Given the description of an element on the screen output the (x, y) to click on. 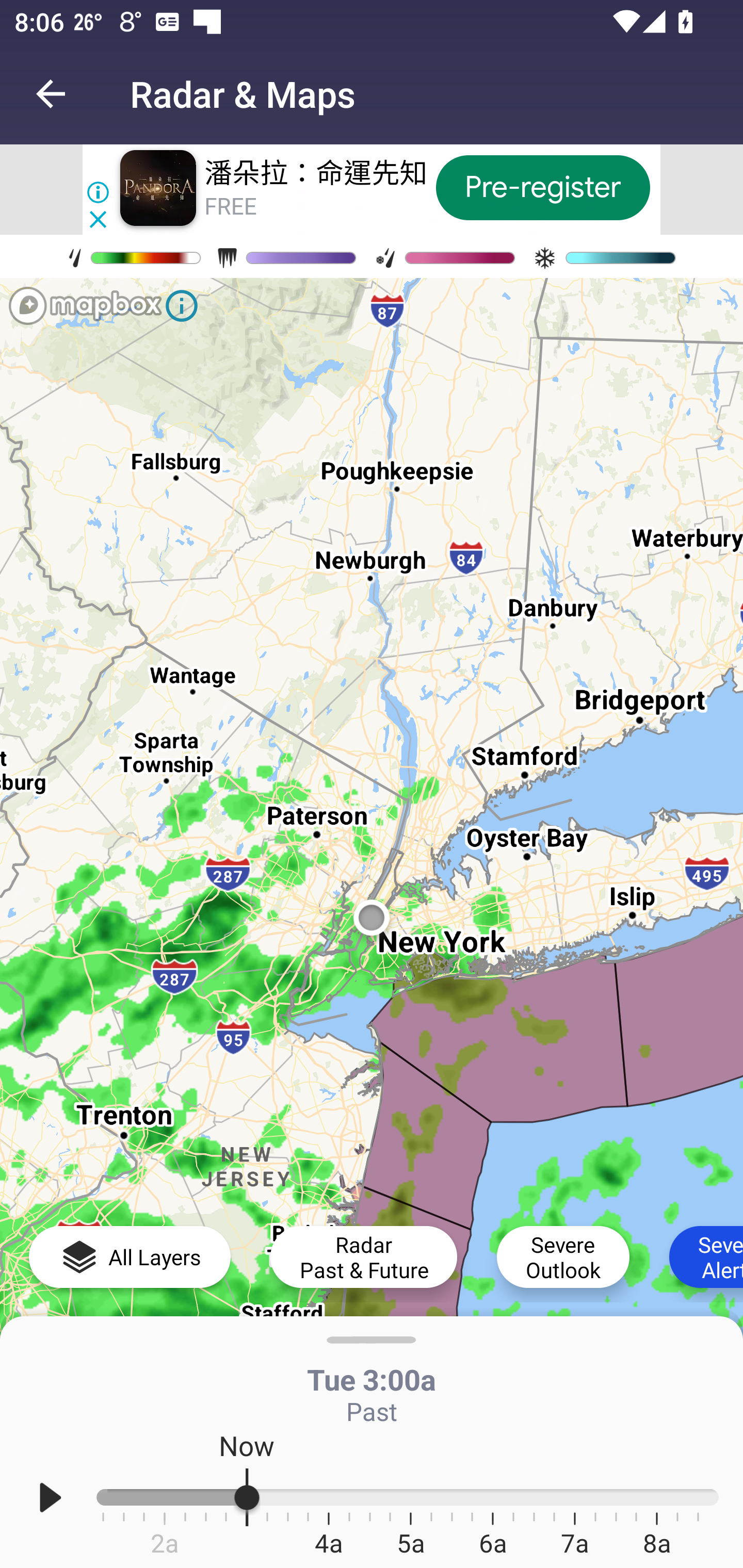
Navigate up (50, 93)
潘朵拉：命運先知 (316, 173)
Pre-register (542, 187)
FREE (230, 206)
All Layers (129, 1256)
Radar
Past & Future Radar Past & Future (363, 1256)
Severe
Outlook Severe Outlook (563, 1256)
Play (50, 1497)
